Given the description of an element on the screen output the (x, y) to click on. 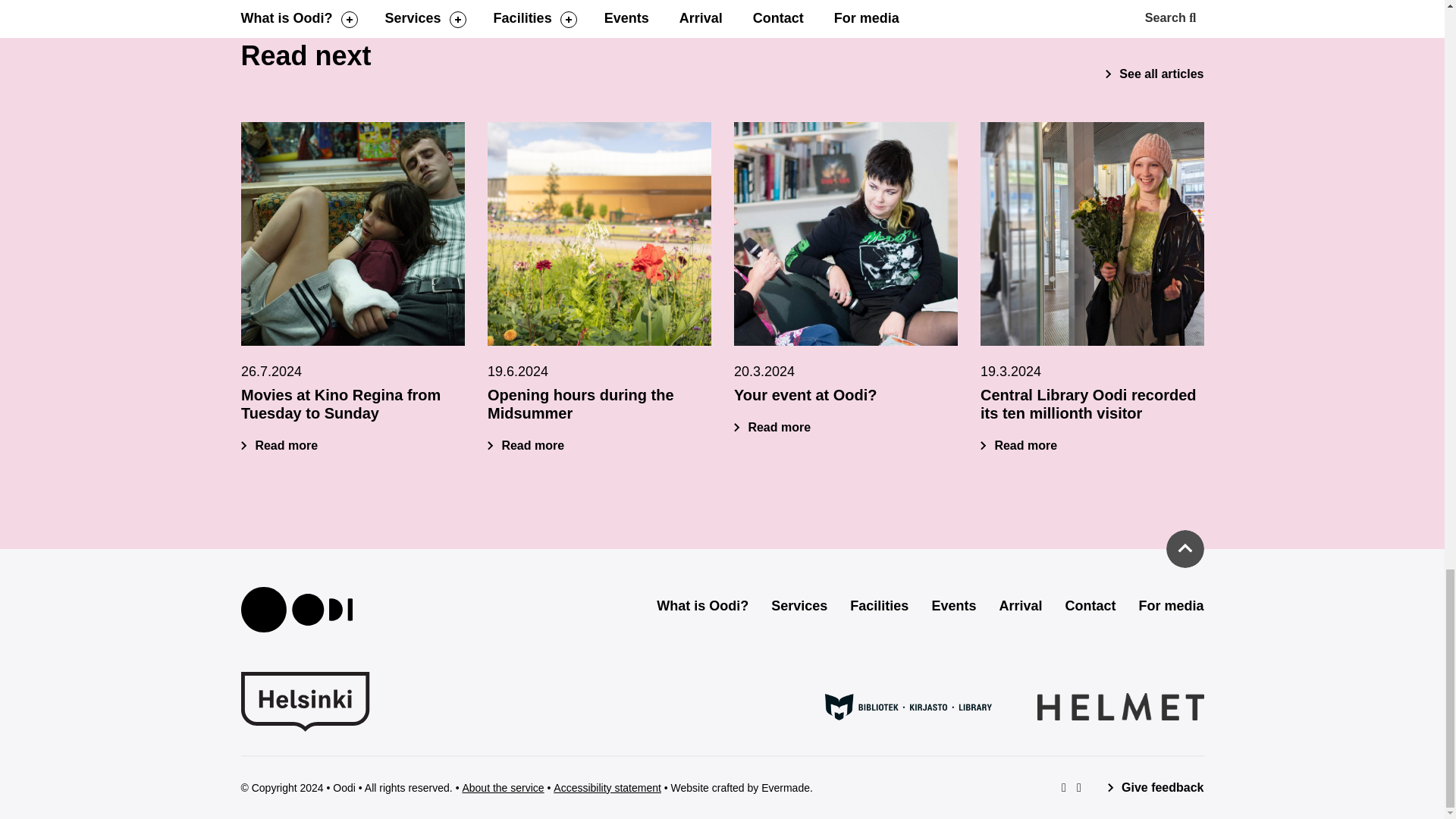
Movies at Kino Regina from Tuesday to Sunday (341, 403)
Your event at Oodi? (845, 233)
Central Library Oodi recorded its ten millionth visitor (1087, 403)
Opening hours during the Midsummer (524, 445)
Opening hours during the Midsummer (598, 233)
Central Library Oodi recorded its ten millionth visitor (1091, 233)
Movies at Kino Regina from Tuesday to Sunday (352, 233)
Your event at Oodi? (771, 427)
Central Library Oodi recorded its ten millionth visitor (1018, 445)
Opening hours during the Midsummer (579, 403)
